Given the description of an element on the screen output the (x, y) to click on. 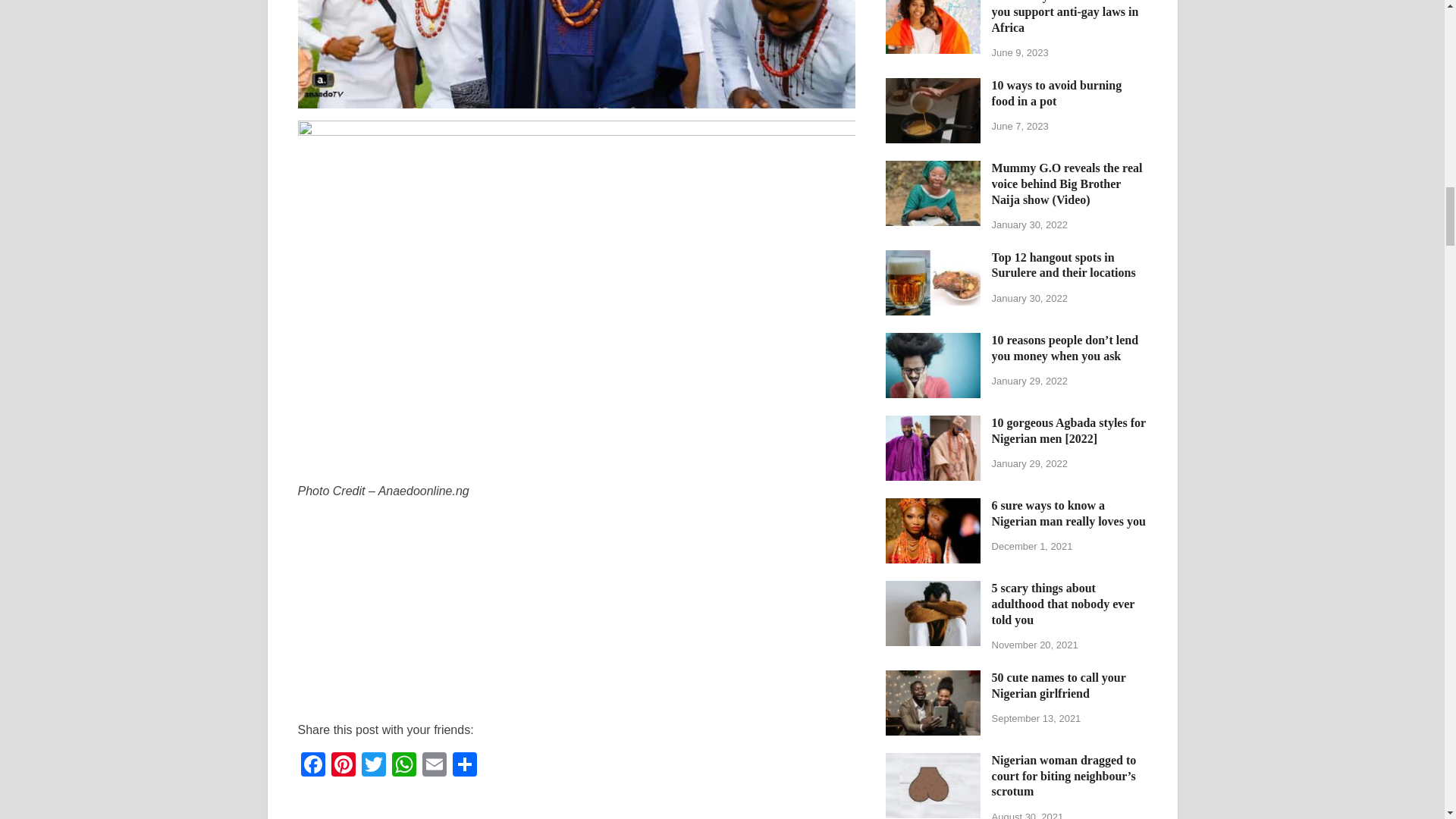
Email (433, 766)
Pinterest (342, 766)
Share (463, 766)
Twitter (373, 766)
Facebook (312, 766)
Email (433, 766)
Facebook (312, 766)
Twitter (373, 766)
WhatsApp (403, 766)
WhatsApp (403, 766)
Pinterest (342, 766)
